Given the description of an element on the screen output the (x, y) to click on. 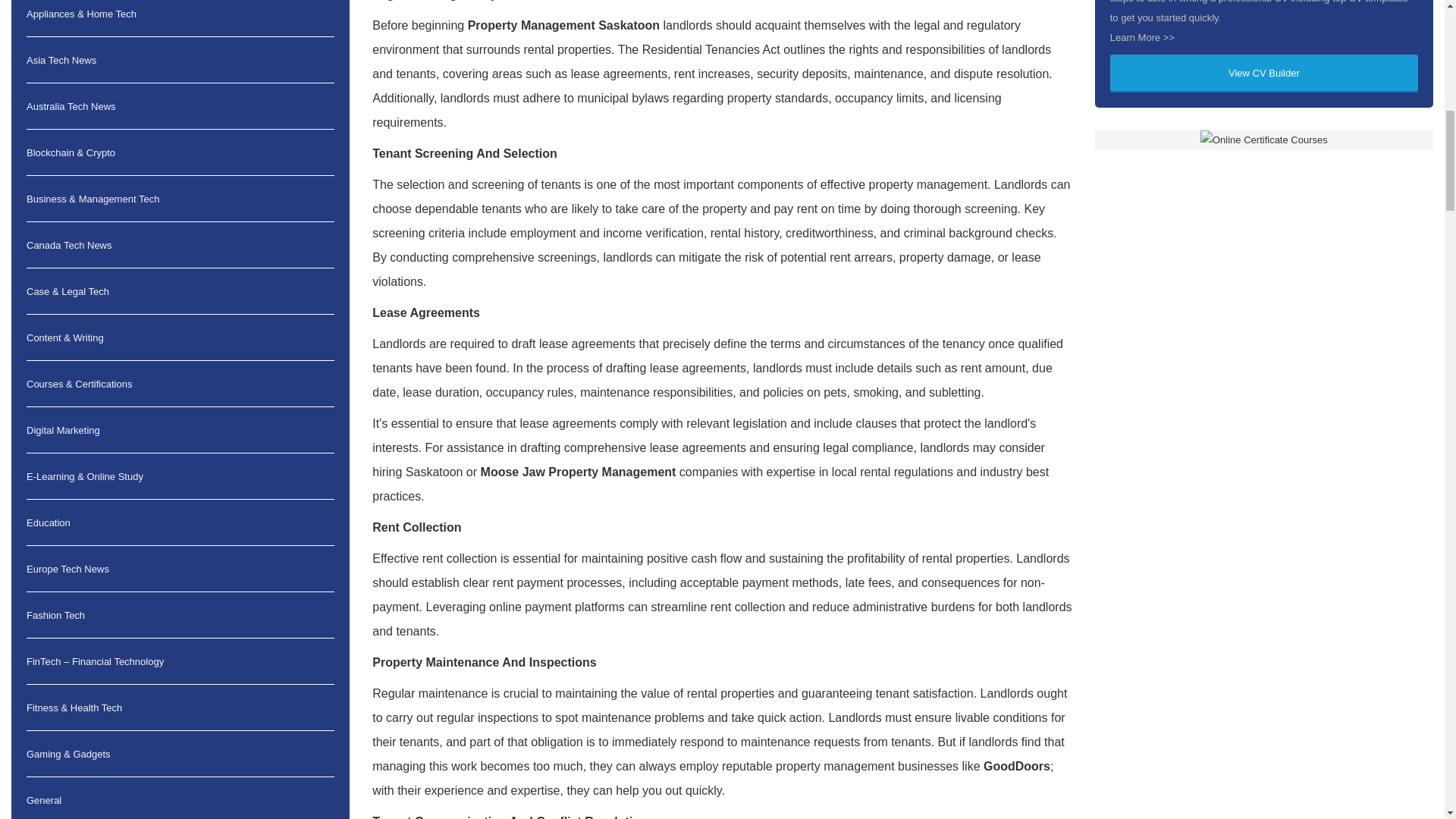
View CV Builder (1263, 73)
